Given the description of an element on the screen output the (x, y) to click on. 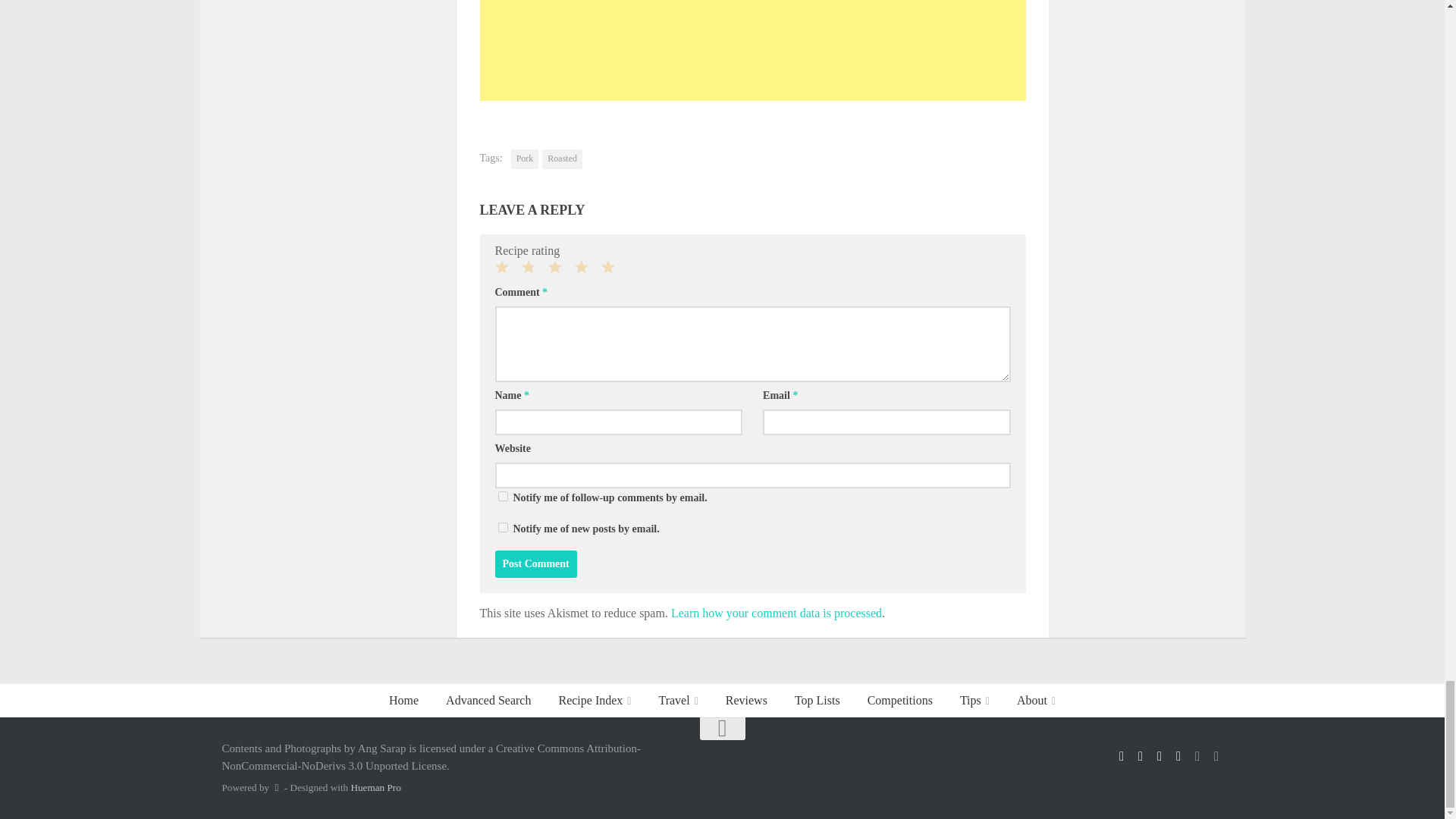
subscribe (501, 527)
subscribe (501, 496)
